Given the description of an element on the screen output the (x, y) to click on. 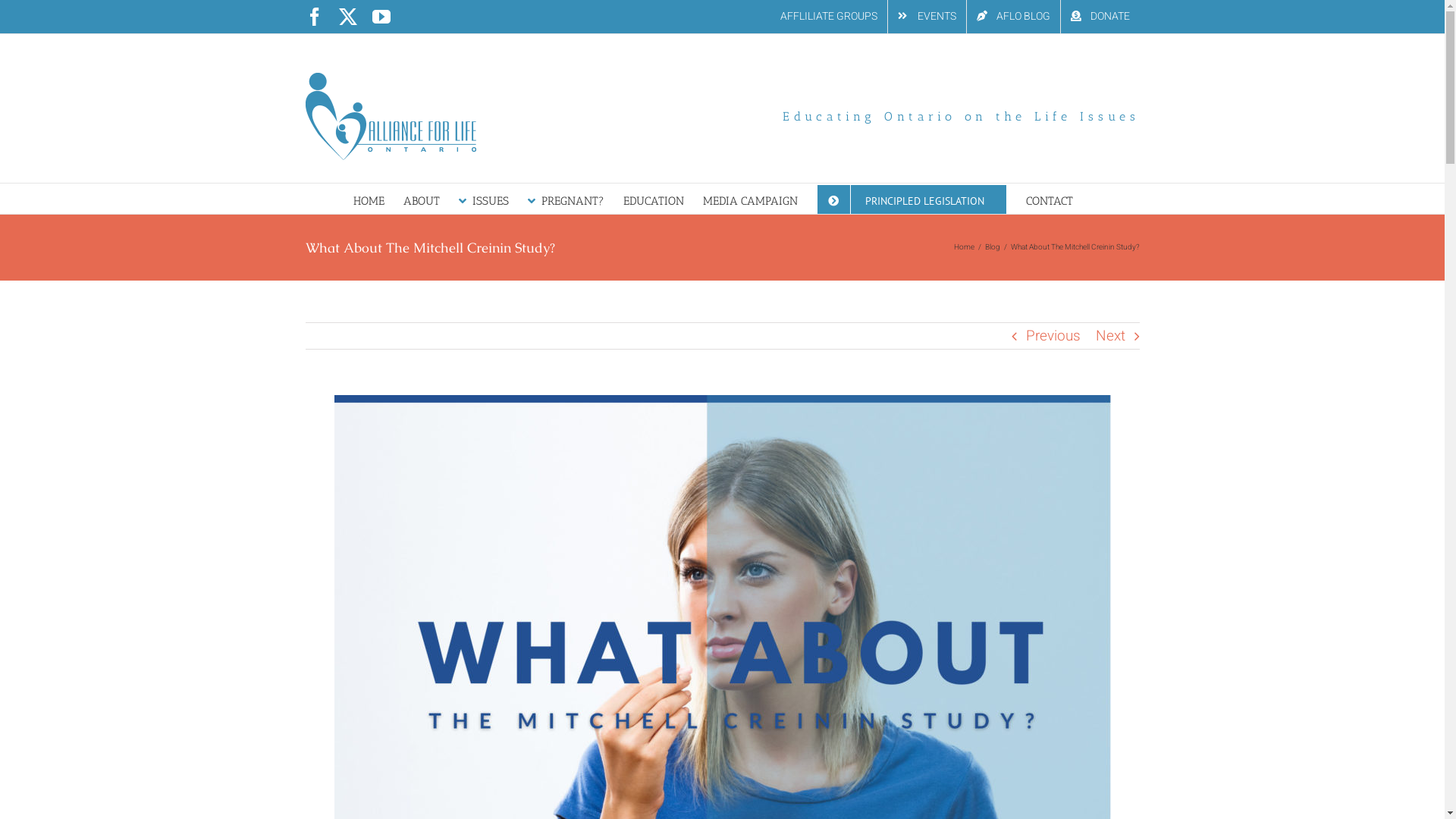
HOME Element type: text (368, 198)
YouTube Element type: text (380, 16)
DONATE Element type: text (1099, 16)
EDUCATION Element type: text (653, 198)
ABOUT Element type: text (421, 198)
EVENTS Element type: text (926, 16)
PREGNANT? Element type: text (565, 198)
Next Element type: text (1109, 335)
Home Element type: text (963, 246)
Previous Element type: text (1052, 335)
CONTACT Element type: text (1048, 198)
AFFLILIATE GROUPS Element type: text (828, 16)
AFLO BLOG Element type: text (1012, 16)
Twitter Element type: text (347, 16)
PRINCIPLED LEGISLATION Element type: text (910, 198)
ISSUES Element type: text (483, 198)
Facebook Element type: text (313, 16)
Blog Element type: text (991, 246)
MEDIA CAMPAIGN Element type: text (749, 198)
